Given the description of an element on the screen output the (x, y) to click on. 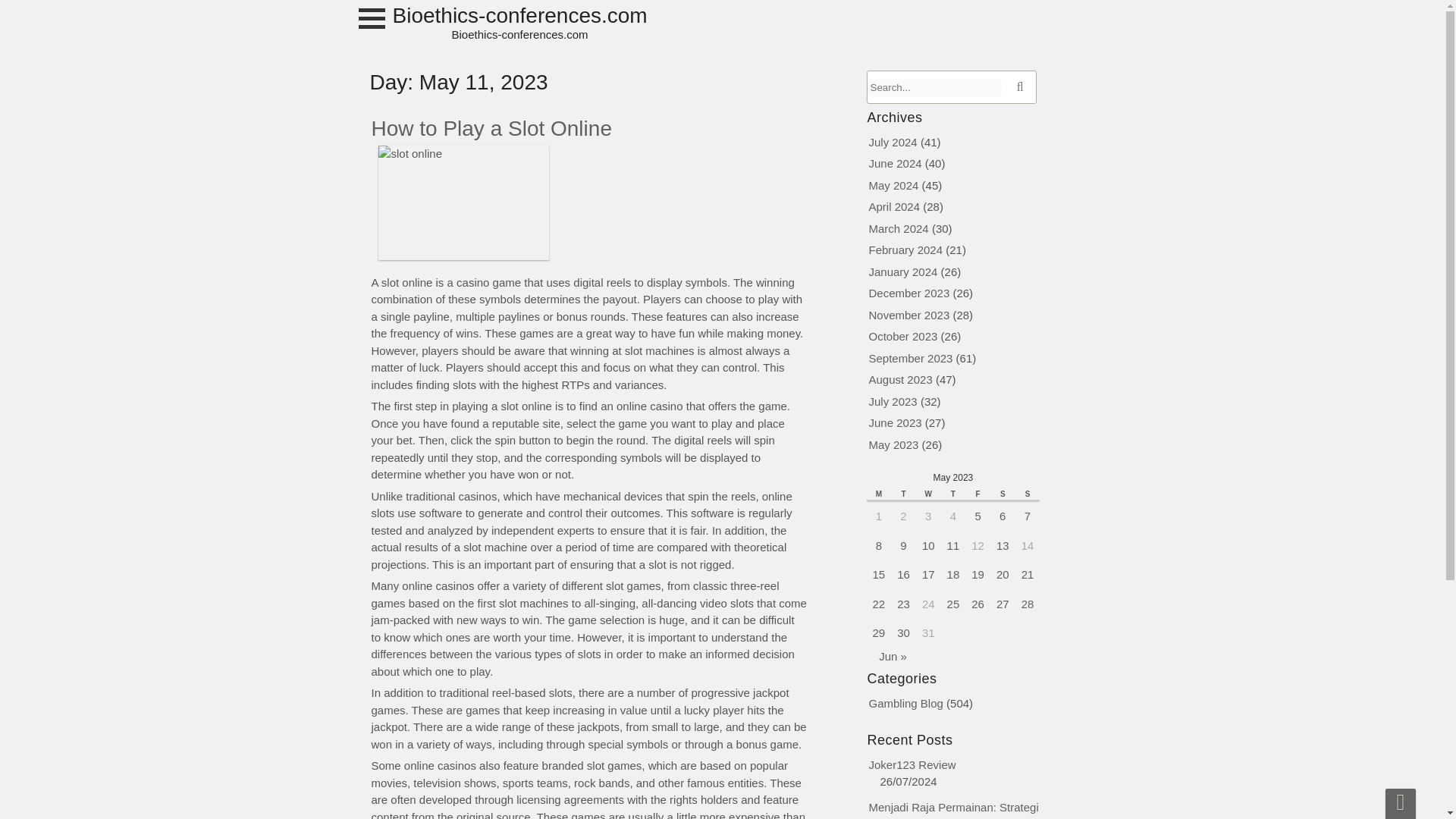
October 2023 (903, 336)
Tuesday (903, 494)
23 (903, 603)
18 (953, 574)
22 (878, 603)
Monday (878, 494)
December 2023 (909, 292)
January 2024 (903, 271)
Thursday (953, 494)
September 2023 (911, 358)
20 (1002, 574)
May 2023 (893, 444)
February 2024 (906, 249)
How to Play a Slot Online (491, 128)
16 (903, 574)
